Given the description of an element on the screen output the (x, y) to click on. 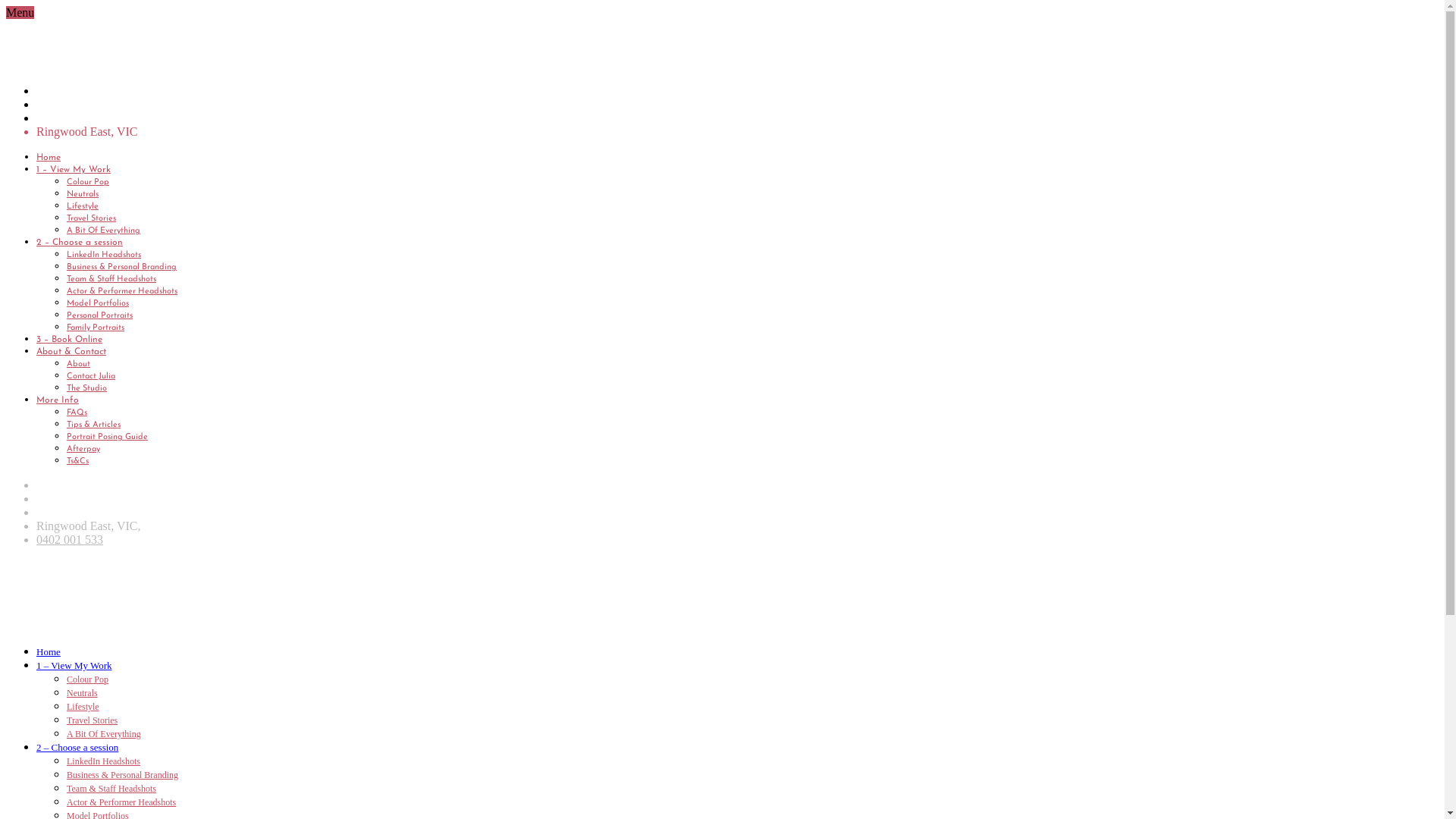
Ts&Cs Element type: text (77, 461)
Colour Pop Element type: text (87, 679)
Team & Staff Headshots Element type: text (111, 788)
The Studio Element type: text (86, 388)
Colour Pop Element type: text (87, 182)
Business & Personal Branding Element type: text (122, 774)
About Element type: text (78, 364)
LinkedIn Headshots Element type: text (103, 255)
Contact Julia Element type: text (90, 376)
Team & Staff Headshots Element type: text (111, 279)
Tips & Articles Element type: text (93, 424)
Home Element type: text (48, 651)
Afterpay Element type: text (83, 449)
Neutrals Element type: text (81, 692)
A Bit Of Everything Element type: text (103, 733)
Business & Personal Branding Element type: text (121, 267)
A Bit Of Everything Element type: text (103, 230)
About & Contact Element type: text (71, 351)
Travel Stories Element type: text (91, 720)
LinkedIn Headshots Element type: text (103, 761)
Neutrals Element type: text (82, 194)
Actor & Performer Headshots Element type: text (121, 291)
Model Portfolios Element type: text (97, 303)
Family Portraits Element type: text (95, 327)
More Info Element type: text (57, 399)
0402 001 533 Element type: text (69, 539)
Actor & Performer Headshots Element type: text (120, 802)
Home Element type: text (48, 157)
FAQs Element type: text (76, 412)
Personal Portraits Element type: text (99, 315)
Travel Stories Element type: text (91, 218)
Portrait Posing Guide Element type: text (106, 437)
Lifestyle Element type: text (82, 206)
Lifestyle Element type: text (82, 706)
